Given the description of an element on the screen output the (x, y) to click on. 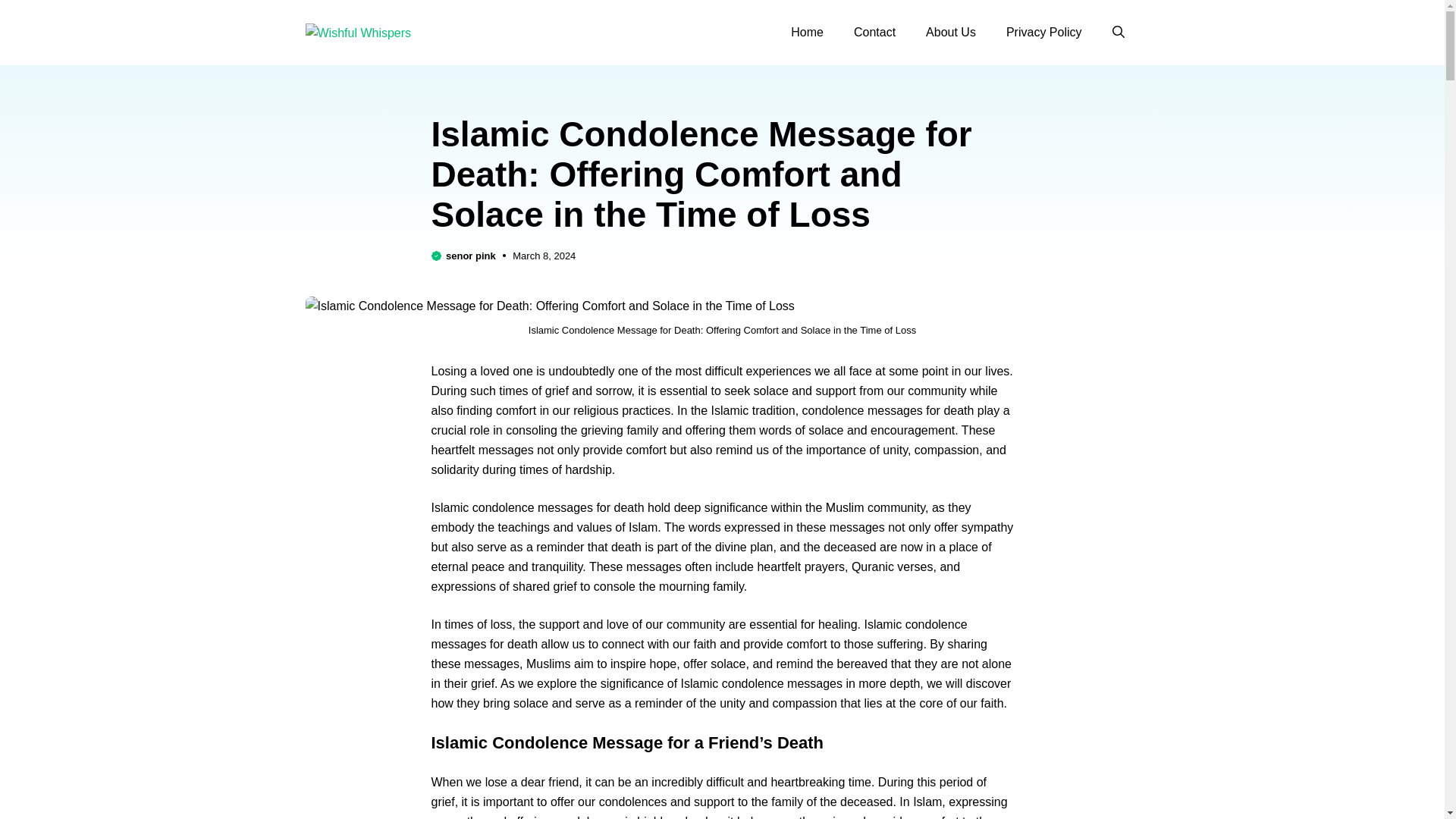
senor pink (470, 255)
About Us (951, 32)
Home (807, 32)
Contact (874, 32)
Privacy Policy (1044, 32)
